Given the description of an element on the screen output the (x, y) to click on. 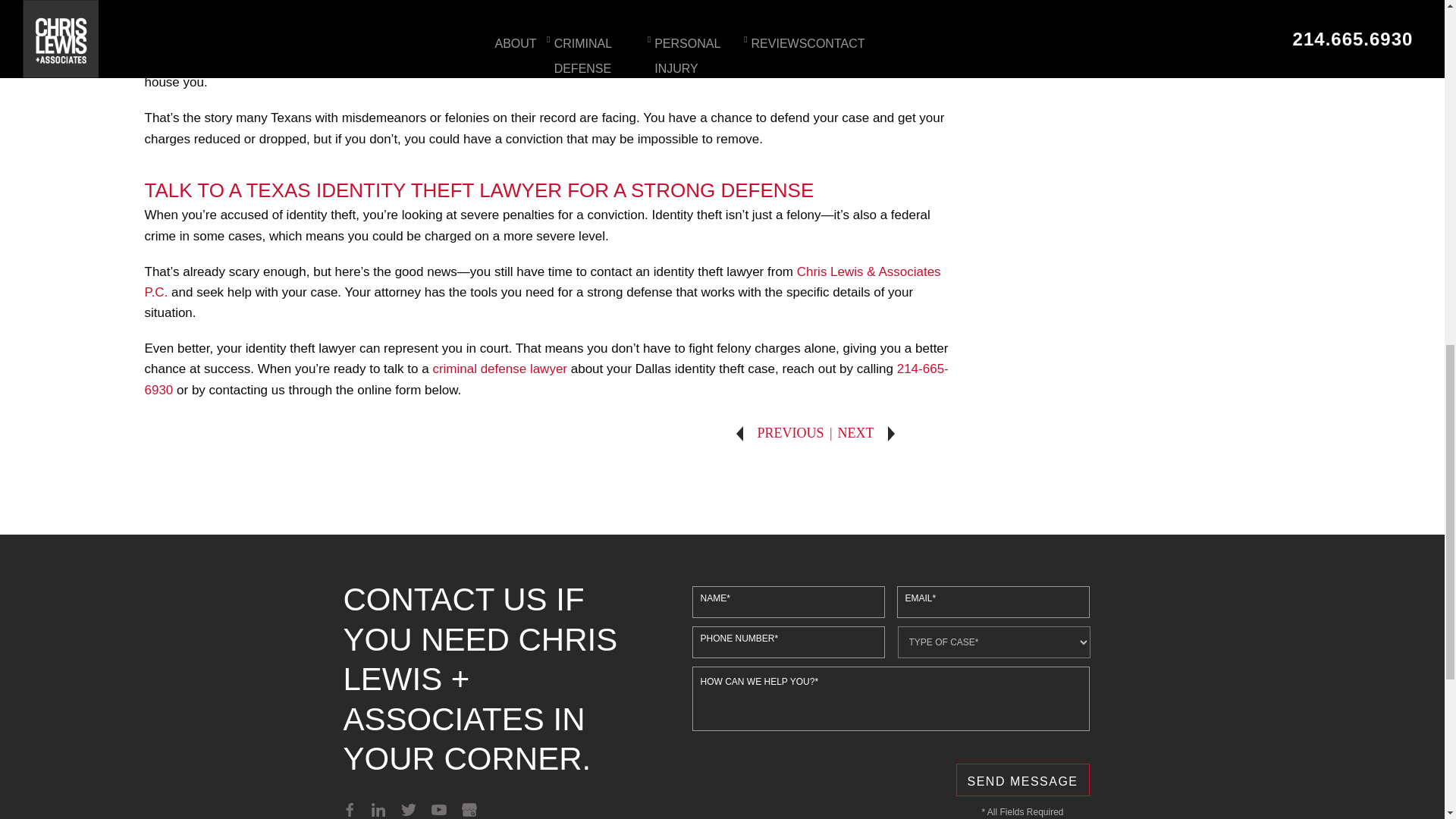
Send Message (1022, 779)
